Given the description of an element on the screen output the (x, y) to click on. 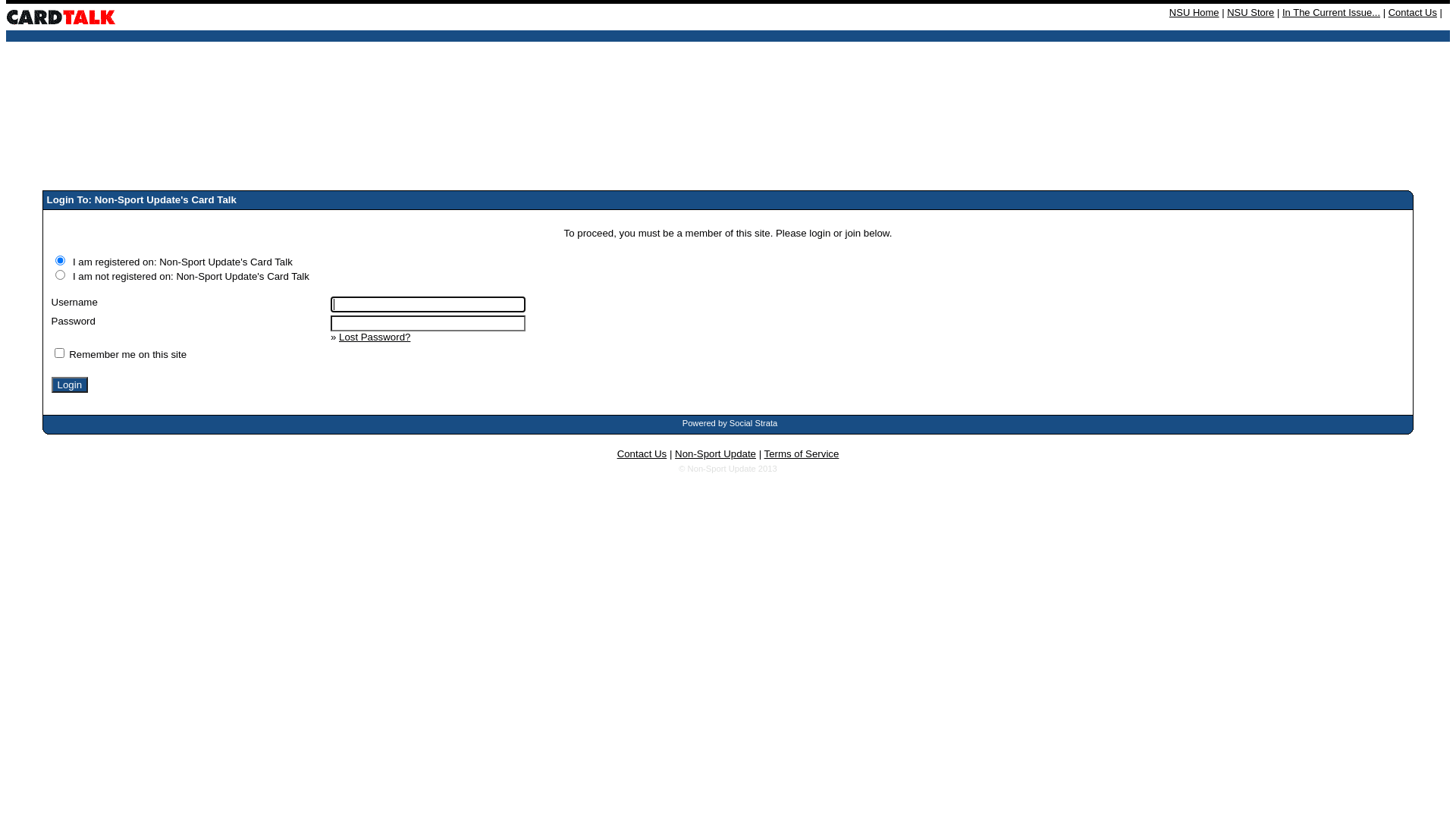
NSU Home Element type: text (1194, 12)
Contact Us Element type: text (1412, 12)
on Element type: text (60, 274)
Contact Us Element type: text (642, 453)
Lost Password? Element type: text (374, 336)
Terms of Service Element type: text (801, 453)
Non-Sport Update Element type: text (715, 453)
In The Current Issue... Element type: text (1331, 12)
Powered by Social Strata Element type: text (730, 422)
NSU Store Element type: text (1250, 12)
Login Element type: text (69, 384)
on Element type: text (60, 260)
